Given the description of an element on the screen output the (x, y) to click on. 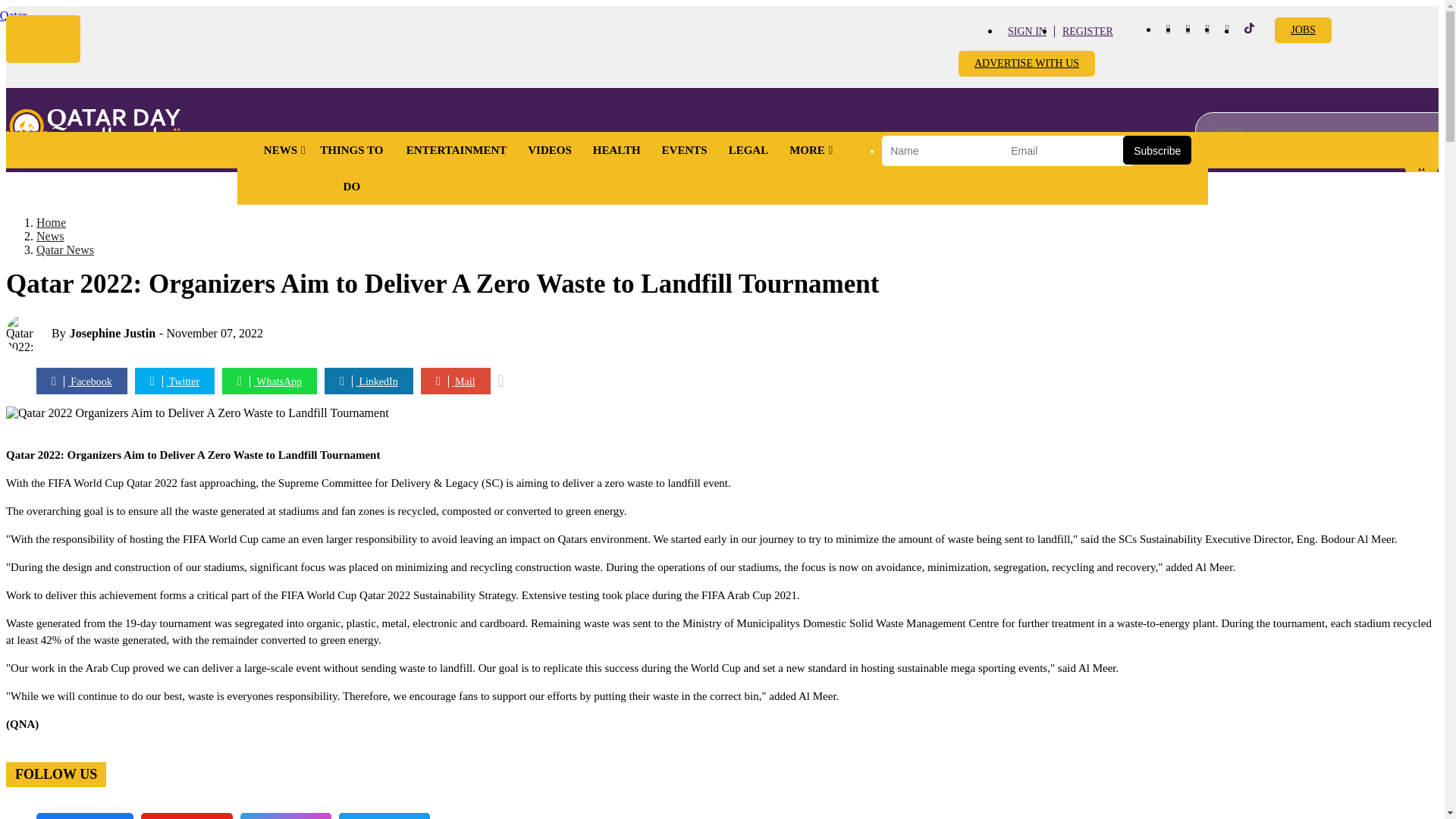
Facebook (1167, 29)
Tiktok (1249, 30)
Youtube (1207, 29)
LEGAL (747, 149)
NEWS (280, 149)
LinkedIn (1226, 29)
Instagram (1187, 29)
THINGS TO DO (351, 167)
VIDEOS (549, 149)
Doha, Qatar (13, 15)
